Given the description of an element on the screen output the (x, y) to click on. 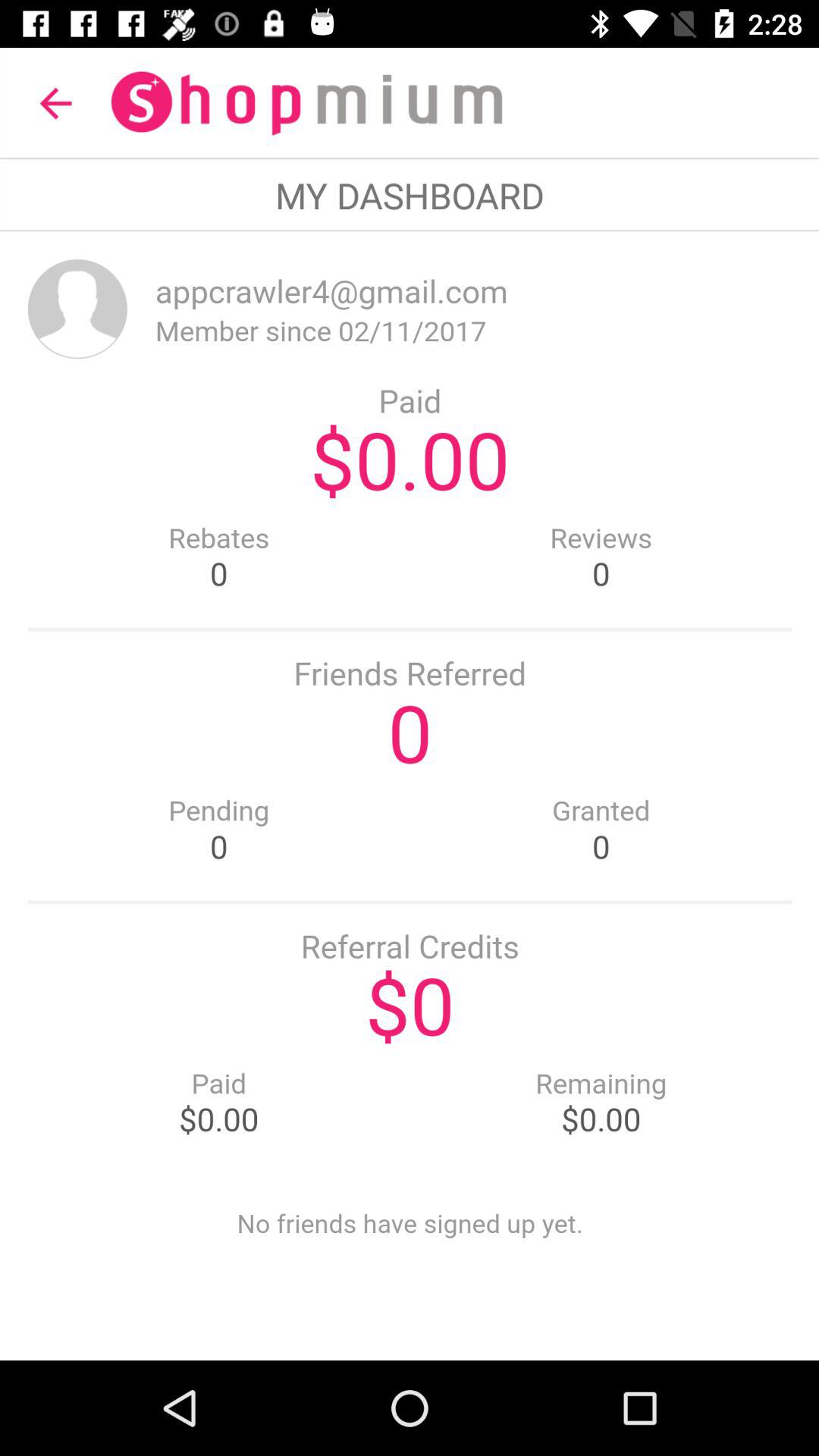
main canvas (409, 795)
